Given the description of an element on the screen output the (x, y) to click on. 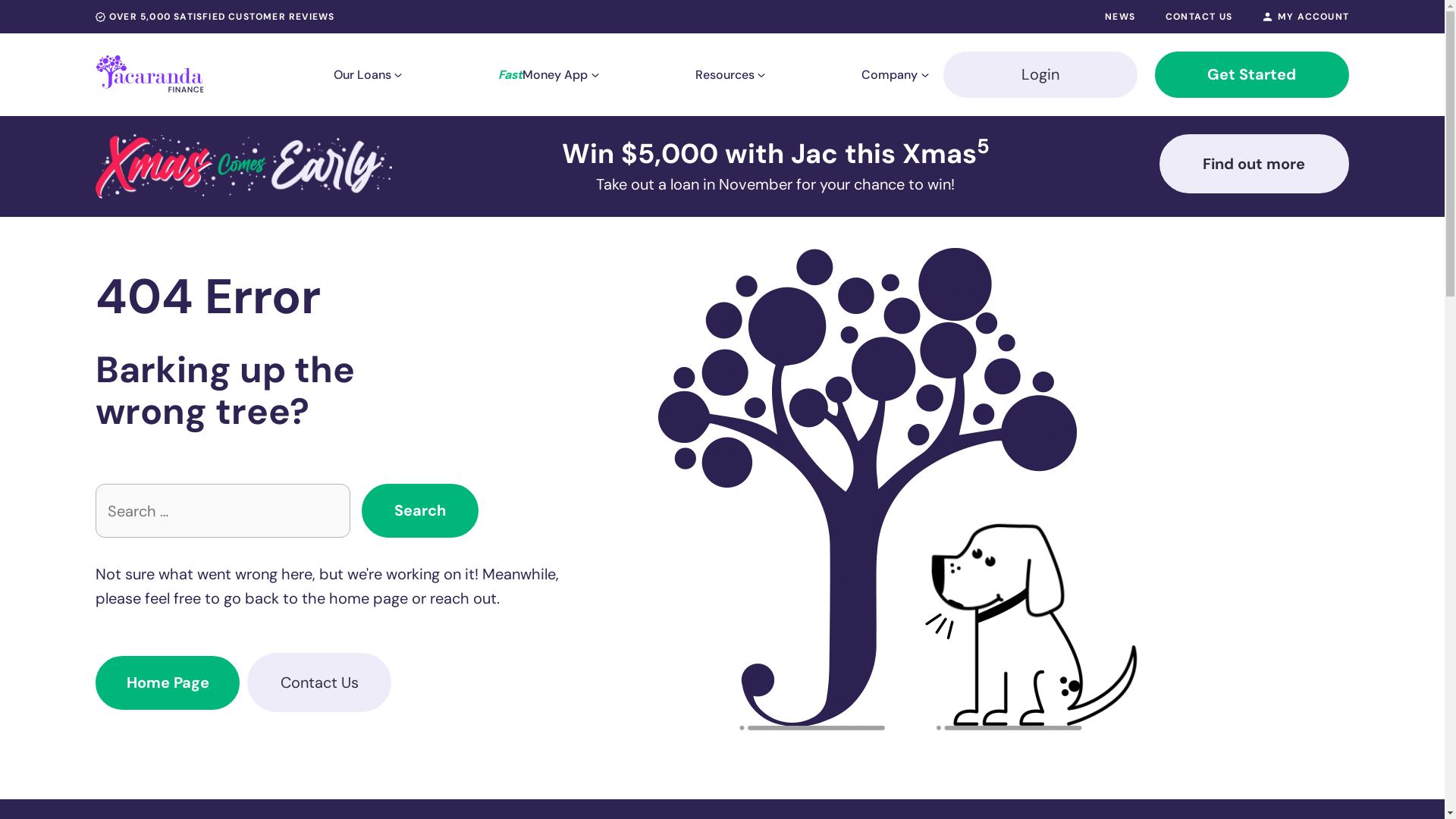
Contact Us Element type: text (319, 682)
Get Started Element type: text (1251, 74)
Find out more Element type: text (1253, 163)
NEWS Element type: text (1119, 15)
Resources Element type: text (723, 73)
CONTACT US Element type: text (1198, 15)
FastMoney App Element type: text (542, 73)
Our Loans Element type: text (362, 73)
Login Element type: text (1040, 74)
Company Element type: text (889, 73)
Search Element type: text (419, 510)
MY ACCOUNT Element type: text (1305, 16)
Home Page Element type: text (167, 682)
